Given the description of an element on the screen output the (x, y) to click on. 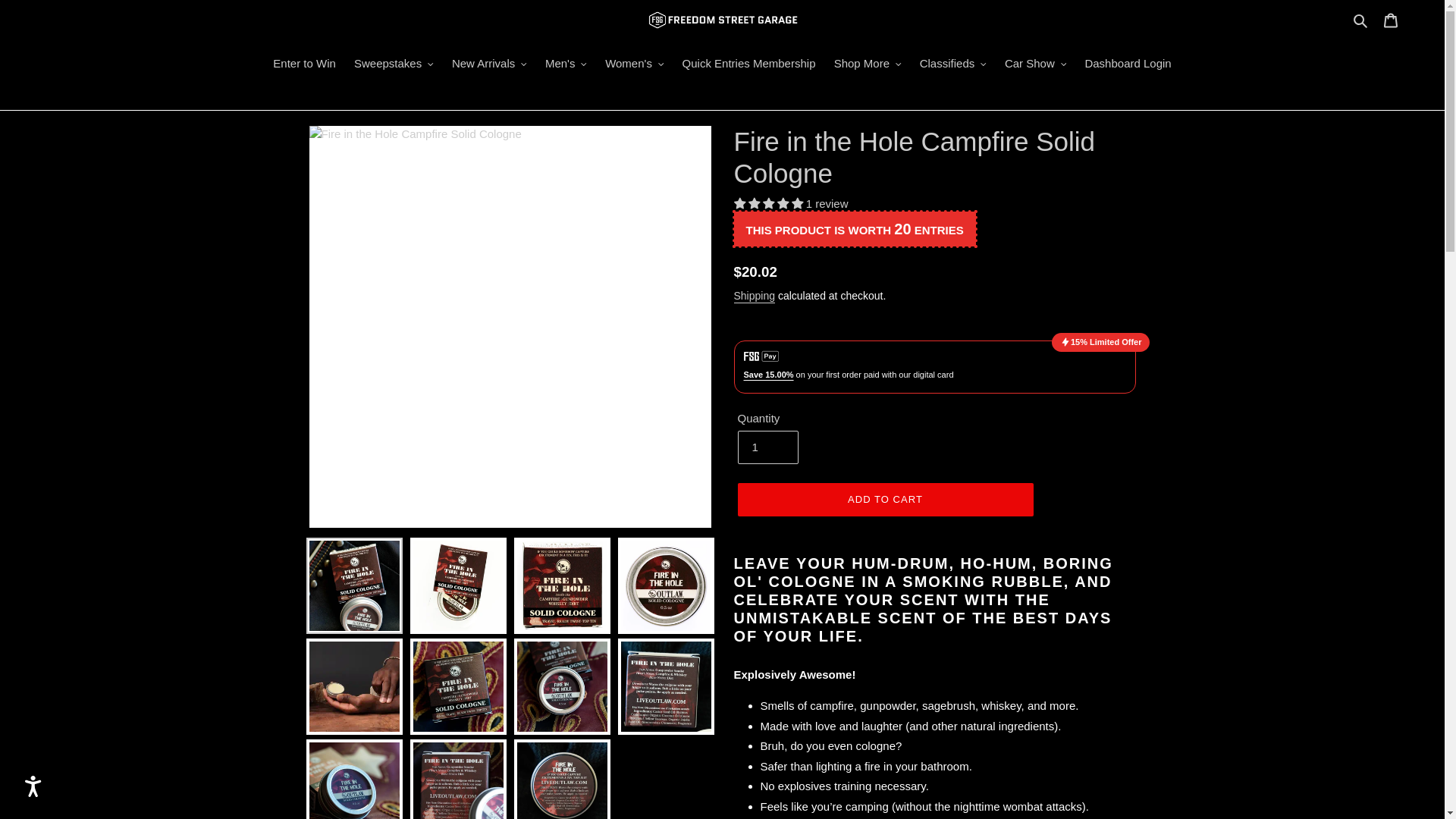
1 (766, 447)
EquallyAI Widget Activation Icon (32, 785)
Search (1361, 19)
Cart (1390, 20)
Open Accessibility Menu (32, 785)
